Given the description of an element on the screen output the (x, y) to click on. 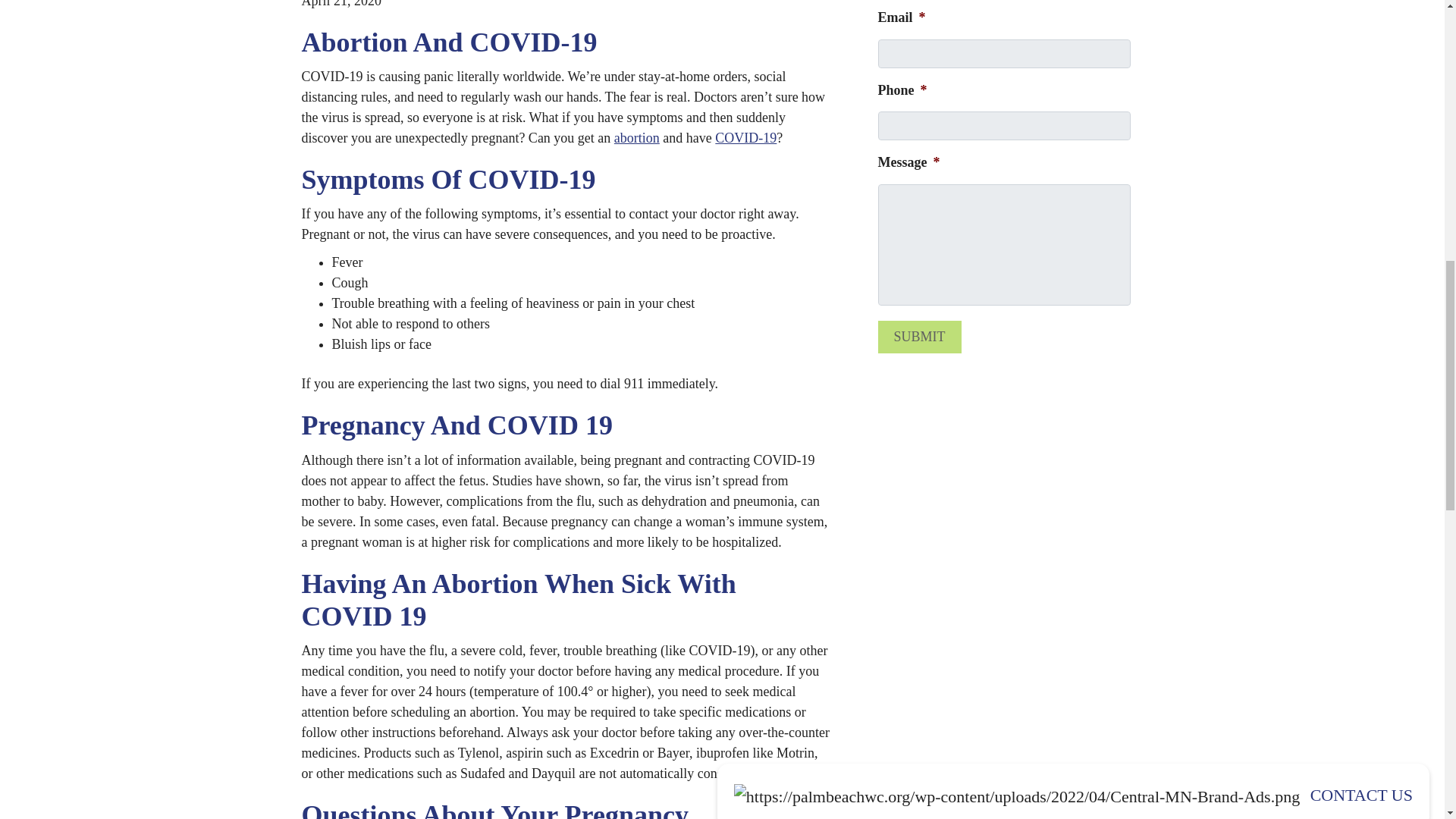
abortion (636, 137)
Submit (918, 336)
COVID-19 (745, 137)
Submit (918, 336)
